Given the description of an element on the screen output the (x, y) to click on. 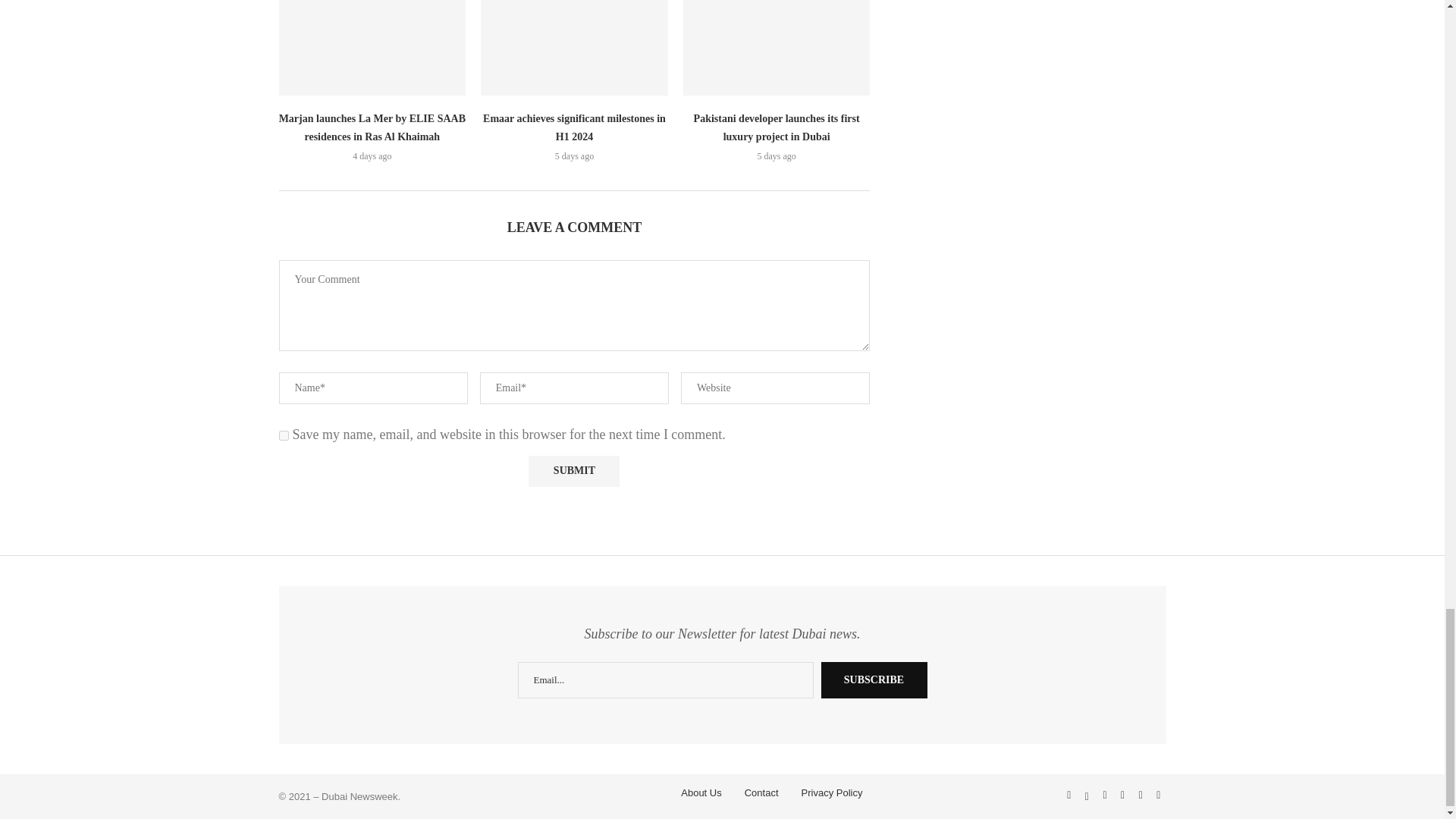
Subscribe (873, 679)
Emaar achieves significant milestones in H1 2024 (574, 47)
yes (283, 435)
Submit (574, 470)
